Given the description of an element on the screen output the (x, y) to click on. 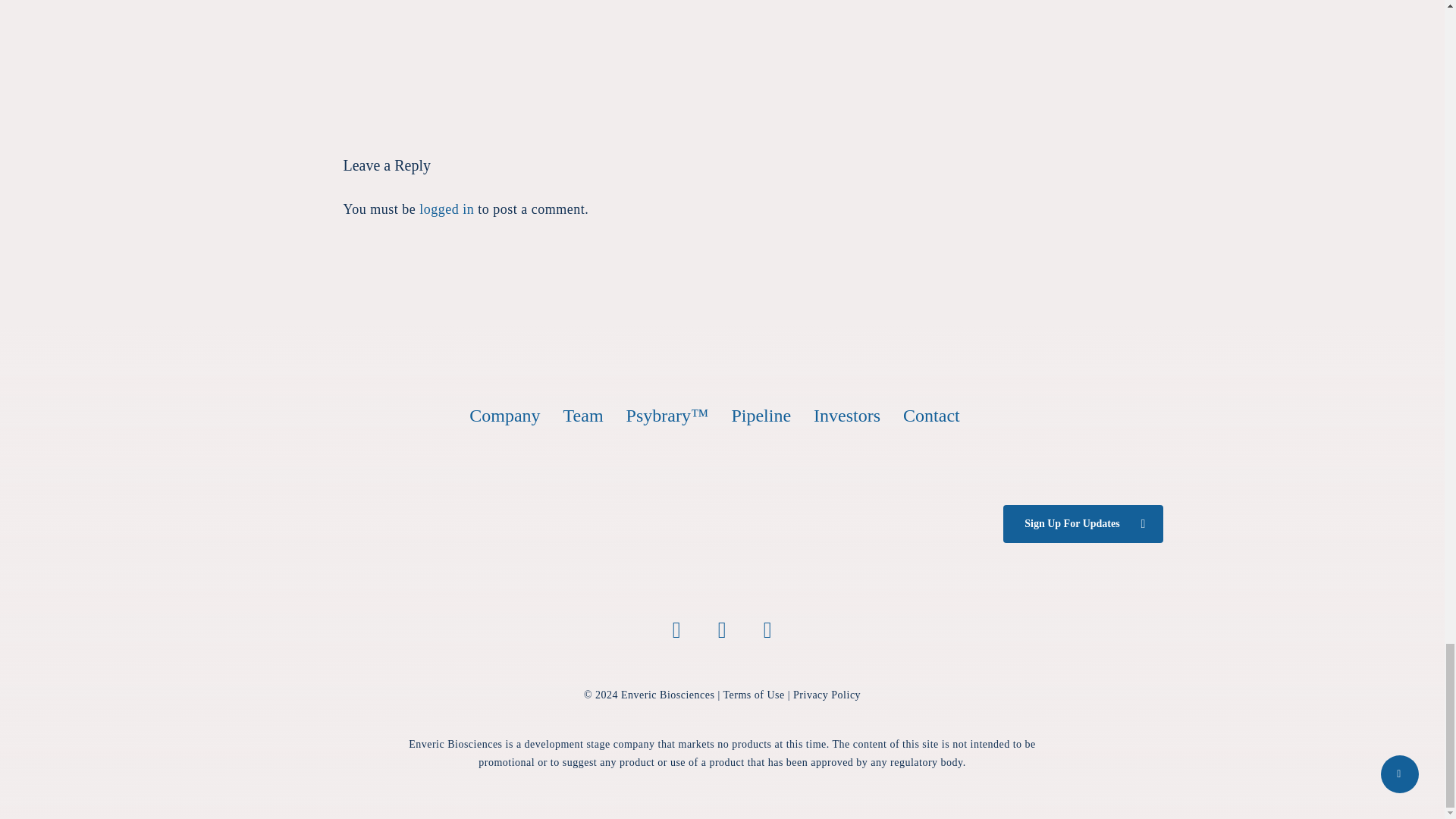
Sign Up For Updates (1082, 523)
Investors (846, 415)
Contact (930, 415)
Team (583, 415)
Pipeline (760, 415)
logged in (446, 209)
Company (504, 415)
